Given the description of an element on the screen output the (x, y) to click on. 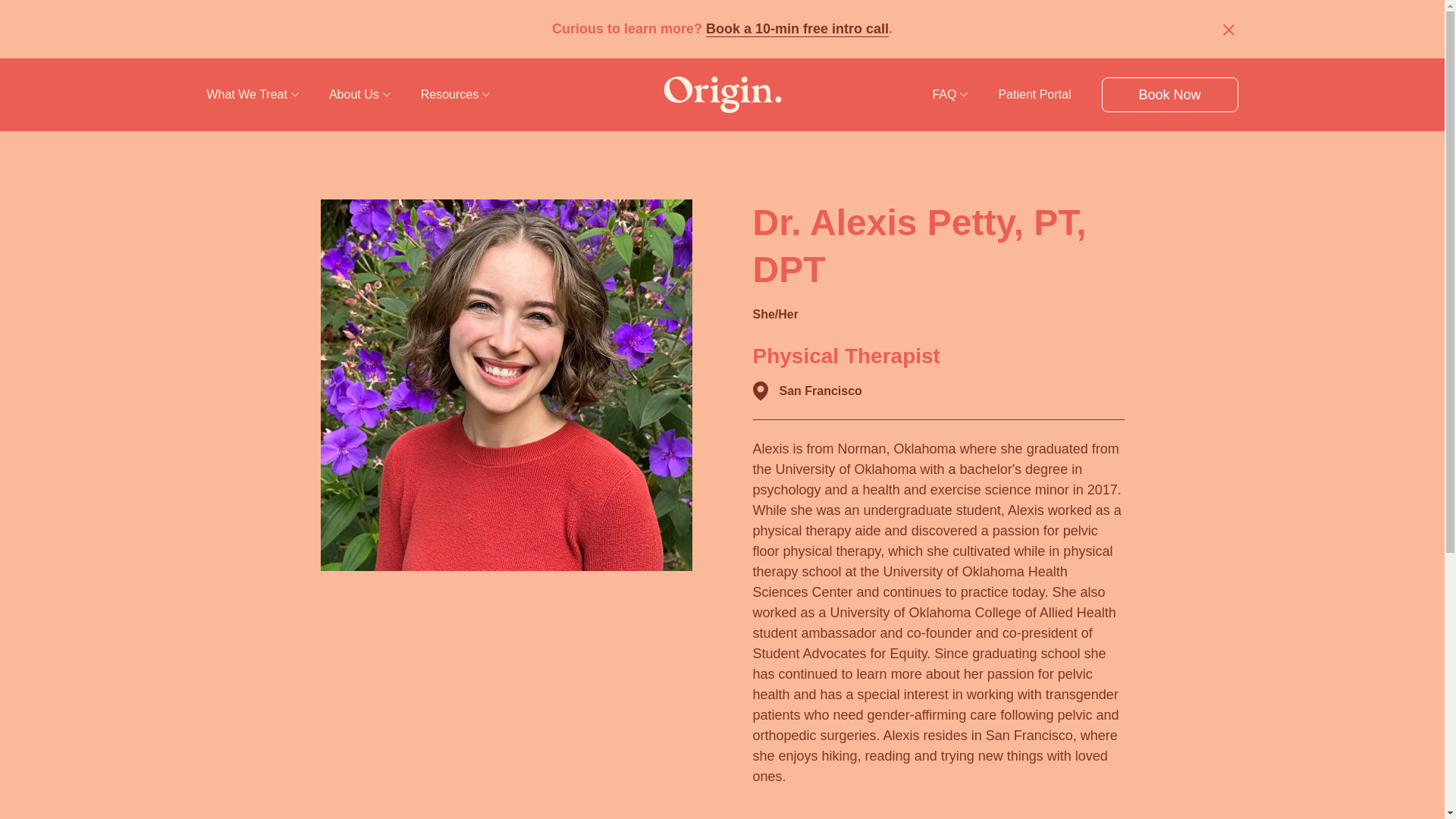
FAQ (949, 94)
Close (1229, 28)
Book a 10-min free intro call (797, 28)
What We Treat (252, 94)
What We Treat (252, 94)
Resources (454, 94)
About Us (359, 94)
Book a 10-min free into call (797, 28)
Origin (721, 94)
About Us (359, 94)
